Given the description of an element on the screen output the (x, y) to click on. 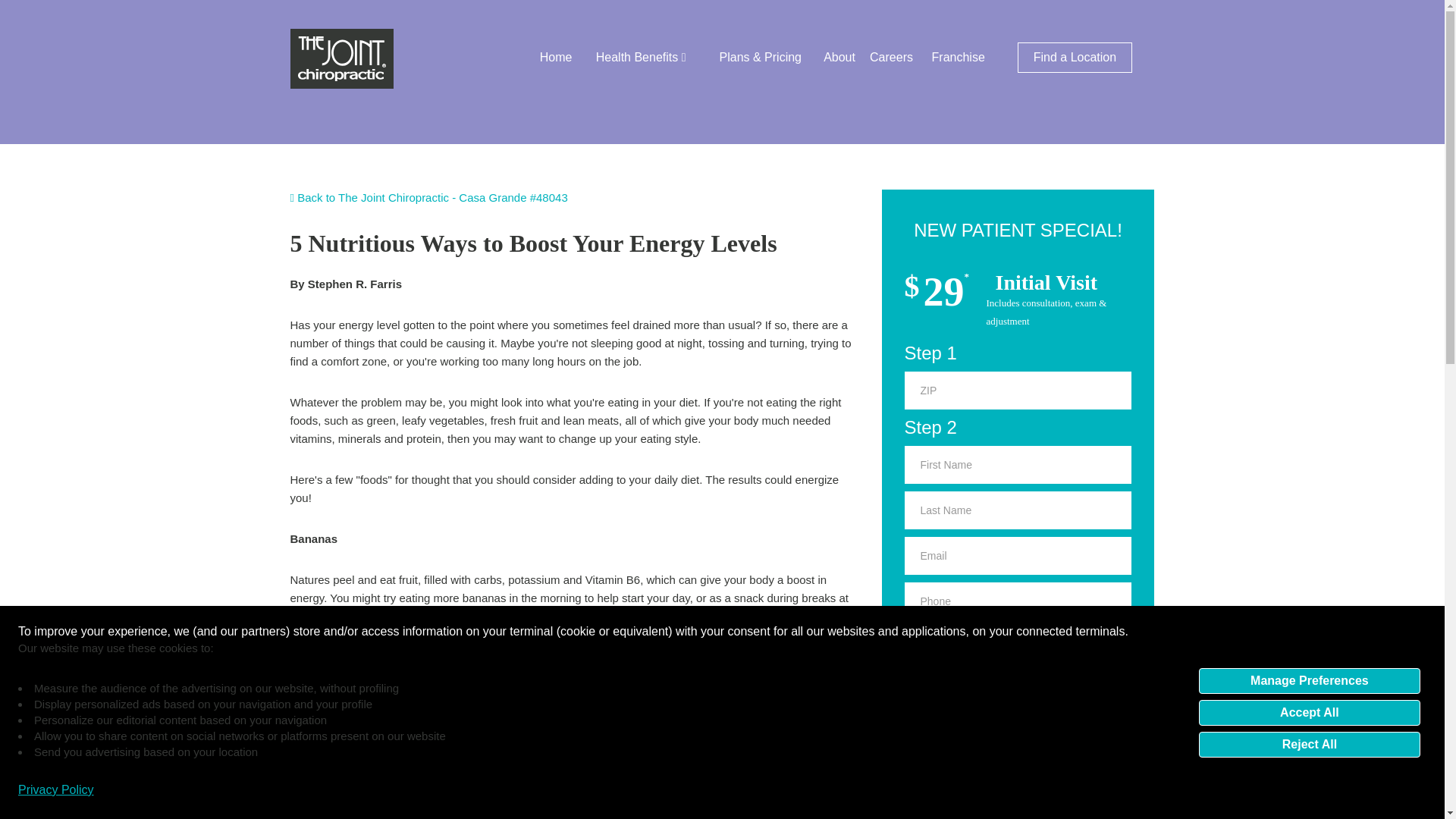
About (840, 57)
Privacy Policy (55, 789)
Reject All (1309, 743)
Careers (890, 57)
Manage Preferences (1309, 679)
Franchise (958, 57)
Accept All (1309, 711)
Health Benefits (640, 57)
1 (911, 685)
Home (556, 57)
